Given the description of an element on the screen output the (x, y) to click on. 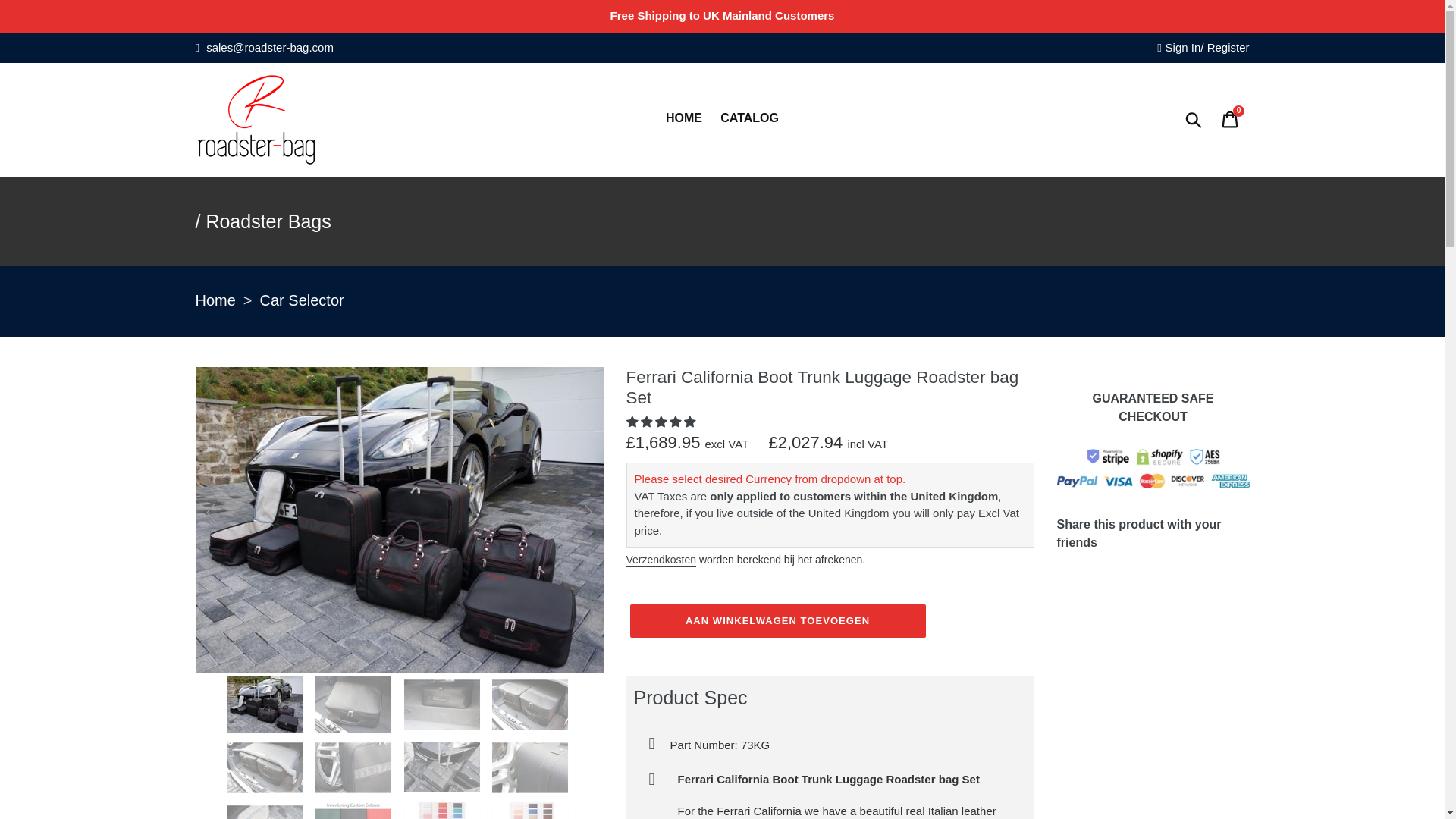
CATALOG (278, 20)
Ferrari California Boot Trunk Luggage Roadster bag Set (354, 704)
Ferrari California Boot Trunk Luggage Roadster bag Set (399, 668)
Ferrari California Boot Trunk Luggage Roadster bag Set (531, 704)
Indienen (1194, 119)
Ferrari California Boot Trunk Luggage Roadster bag Set (443, 704)
CATALOG (749, 119)
Ferrari California Boot Trunk Luggage Roadster bag Set (443, 767)
Ferrari California Boot Trunk Luggage Roadster bag Set (531, 766)
Car Selector (301, 301)
